Given the description of an element on the screen output the (x, y) to click on. 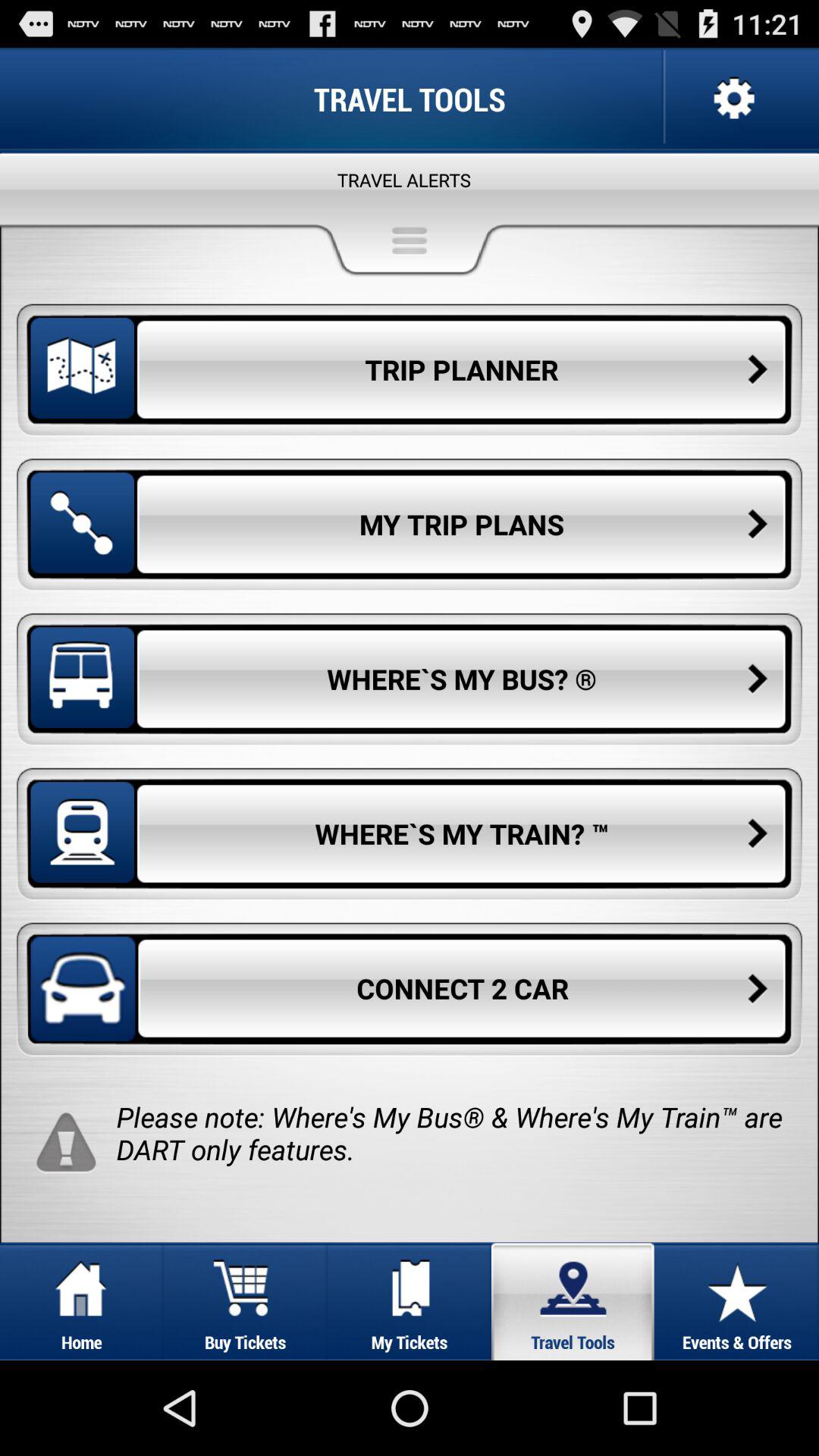
go settings option (732, 99)
